Given the description of an element on the screen output the (x, y) to click on. 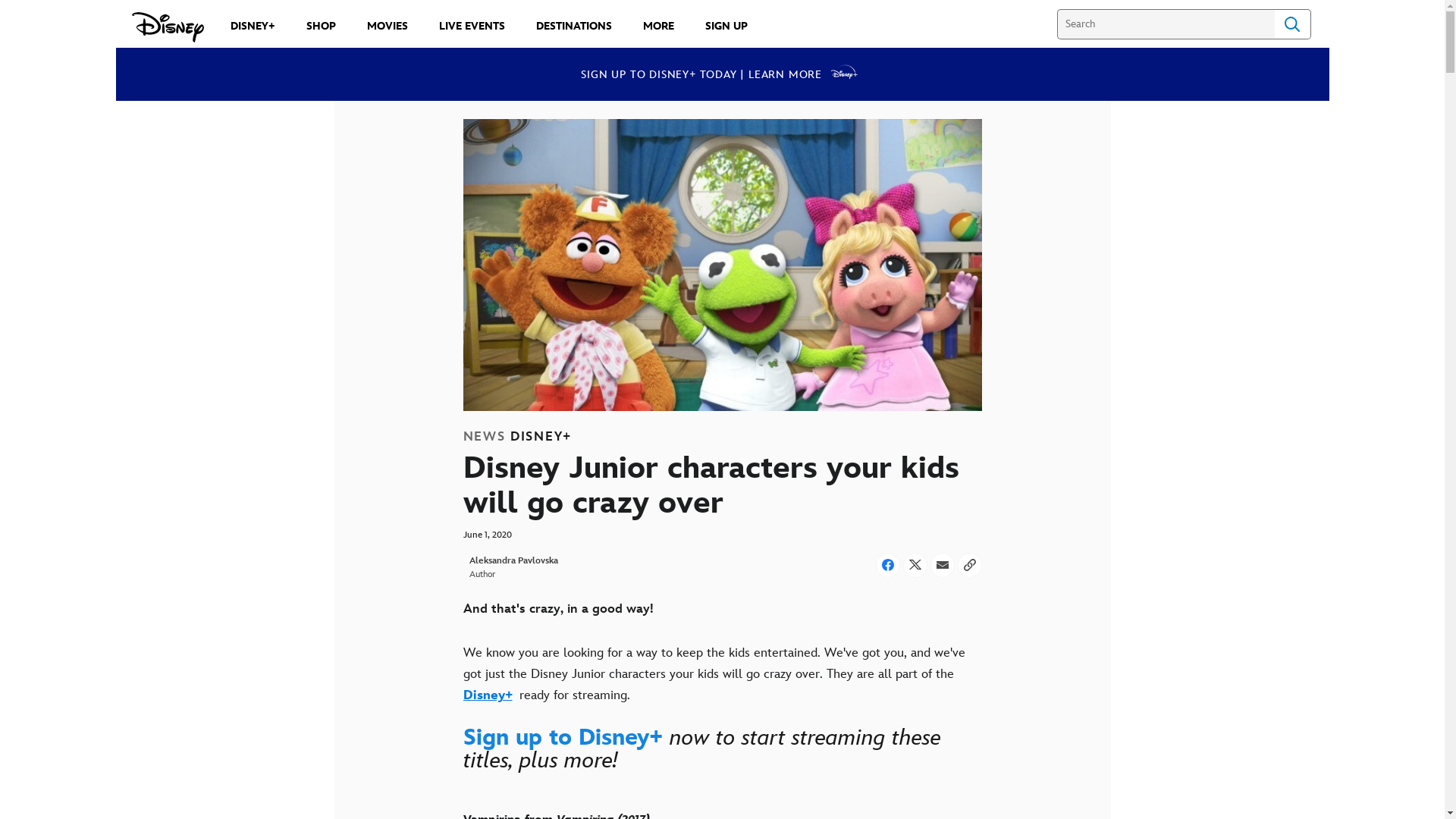
SIGN UP TO DISNEY+ TODAY | LEARN MORE Element type: text (721, 74)
Sign up to Disney+ Element type: text (562, 737)
DESTINATIONS Element type: text (573, 25)
DISNEY+ Element type: text (252, 25)
LIVE EVENTS Element type: text (471, 25)
Disney+ Element type: text (486, 694)
MORE Element type: text (658, 25)
MOVIES Element type: text (387, 25)
SIGN UP Element type: text (726, 25)
Aleksandra Pavlovska Element type: text (512, 560)
Search Element type: text (1292, 24)
SHOP Element type: text (321, 25)
